Given the description of an element on the screen output the (x, y) to click on. 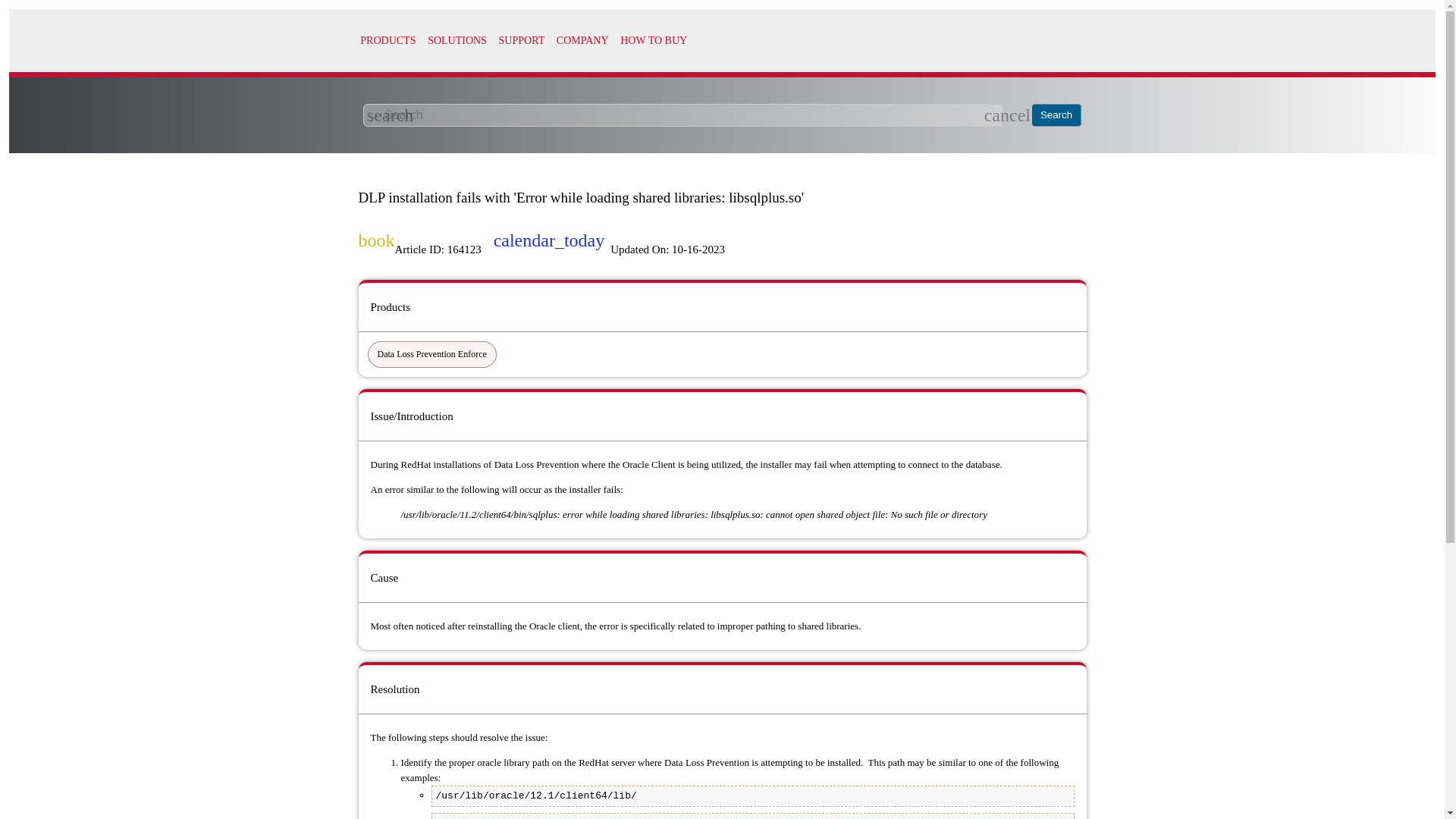
Search (1056, 115)
